Given the description of an element on the screen output the (x, y) to click on. 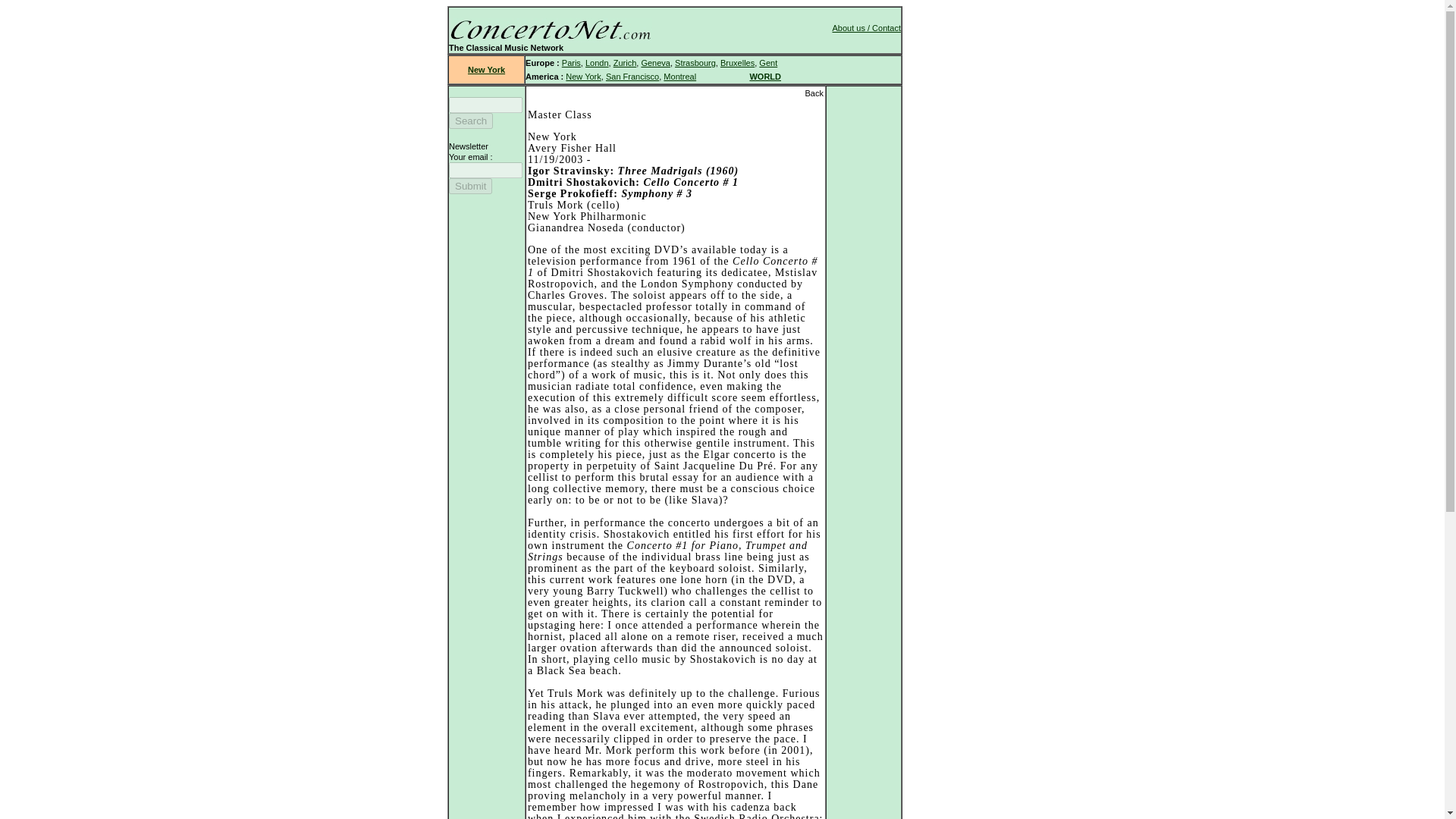
New York (486, 69)
San Francisco (632, 76)
Search (470, 120)
Submit (470, 186)
Strasbourg (695, 62)
Back (813, 92)
Londn (596, 62)
Paris (571, 62)
Geneva (654, 62)
Submit (470, 186)
Zurich (624, 62)
WORLD (764, 76)
Bruxelles (737, 62)
Search (470, 120)
Gent (767, 62)
